Given the description of an element on the screen output the (x, y) to click on. 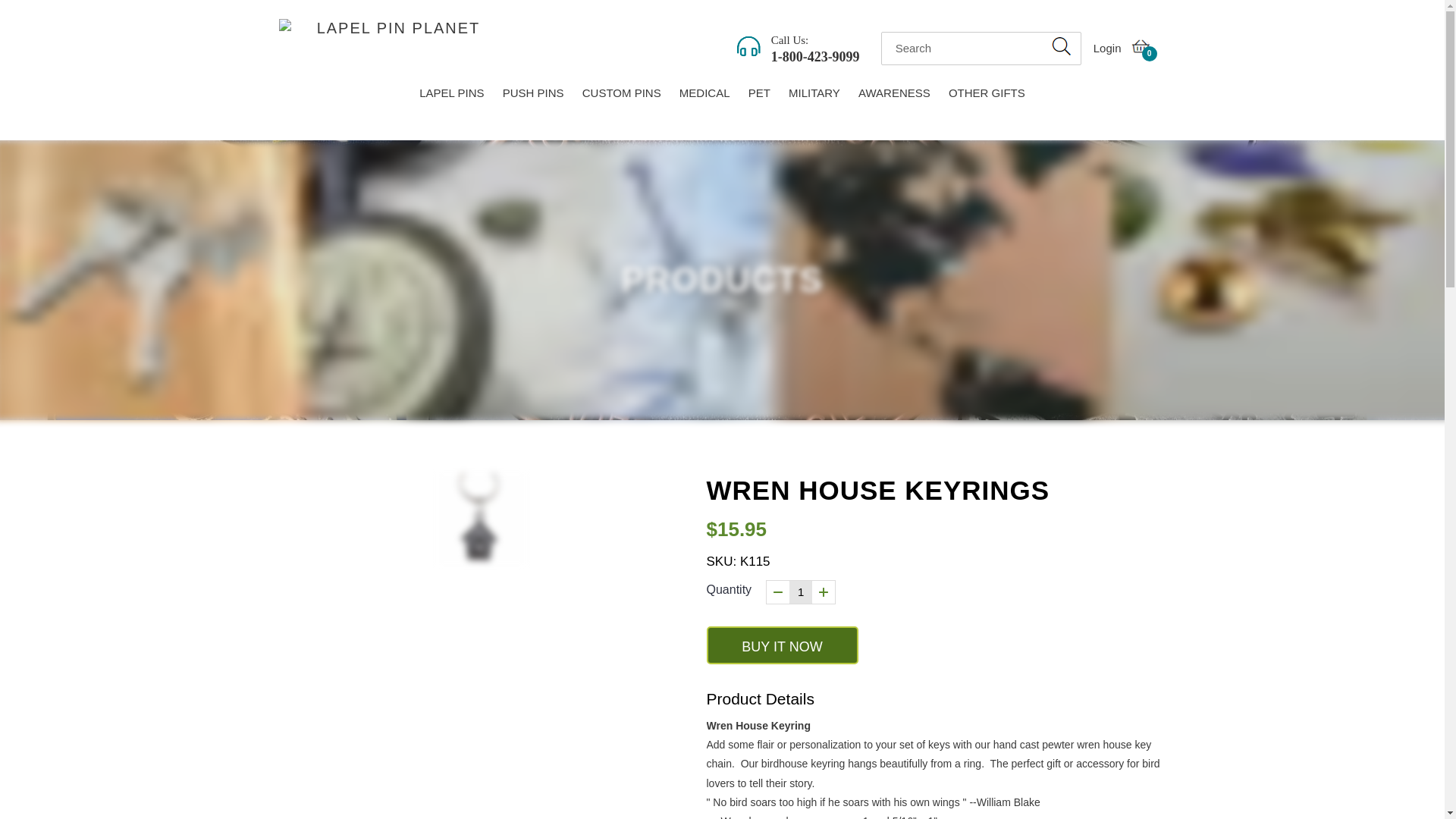
MEDICAL (704, 94)
LAPEL PINS (452, 94)
PUSH PINS (533, 94)
1-800-423-9099 (815, 56)
BUY IT NOW (1102, 48)
AWARENESS (782, 645)
OTHER GIFTS (1139, 48)
WREN HOUSE KEYRINGS (893, 94)
